Given the description of an element on the screen output the (x, y) to click on. 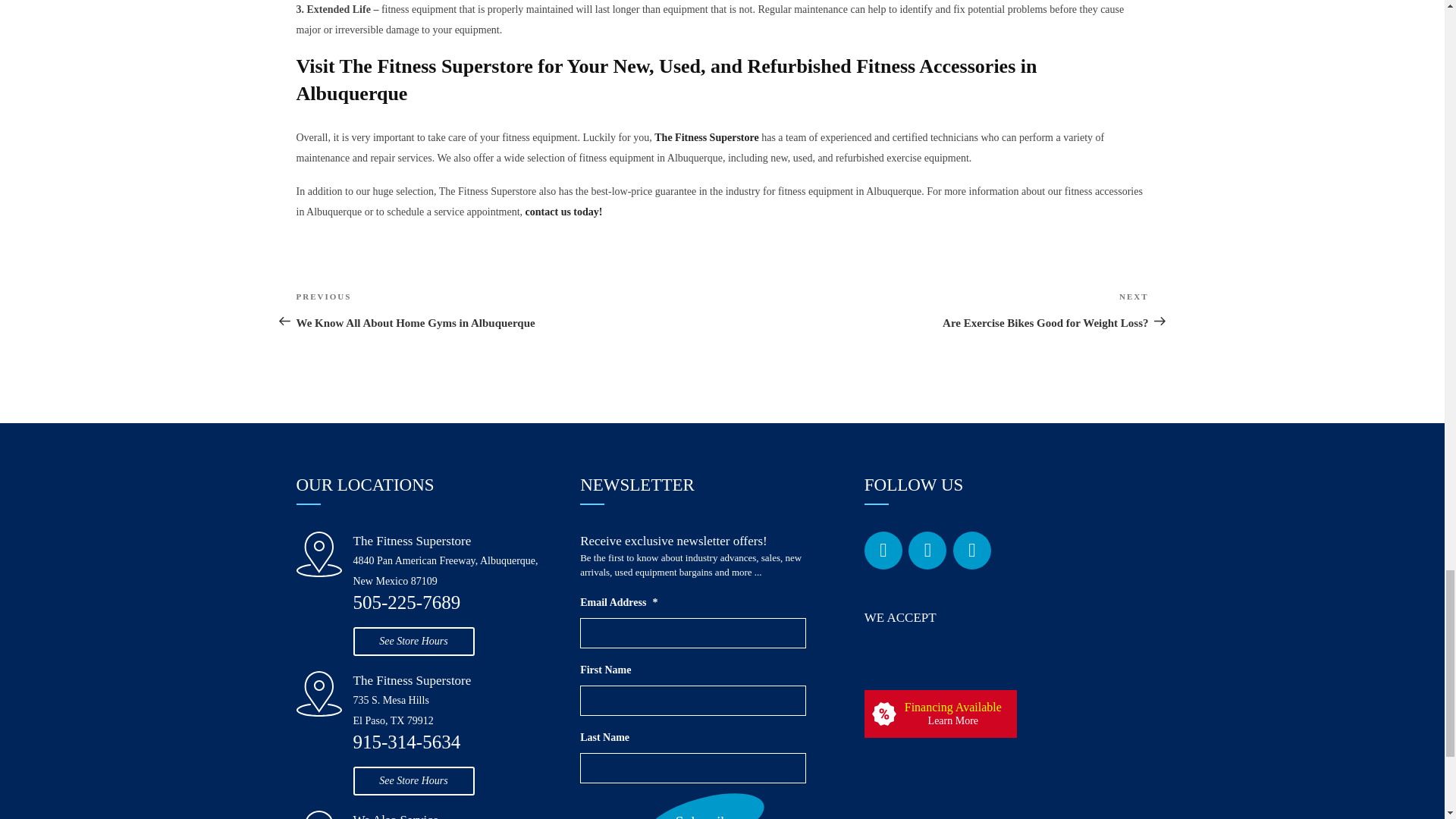
Subscribe (705, 808)
